Given the description of an element on the screen output the (x, y) to click on. 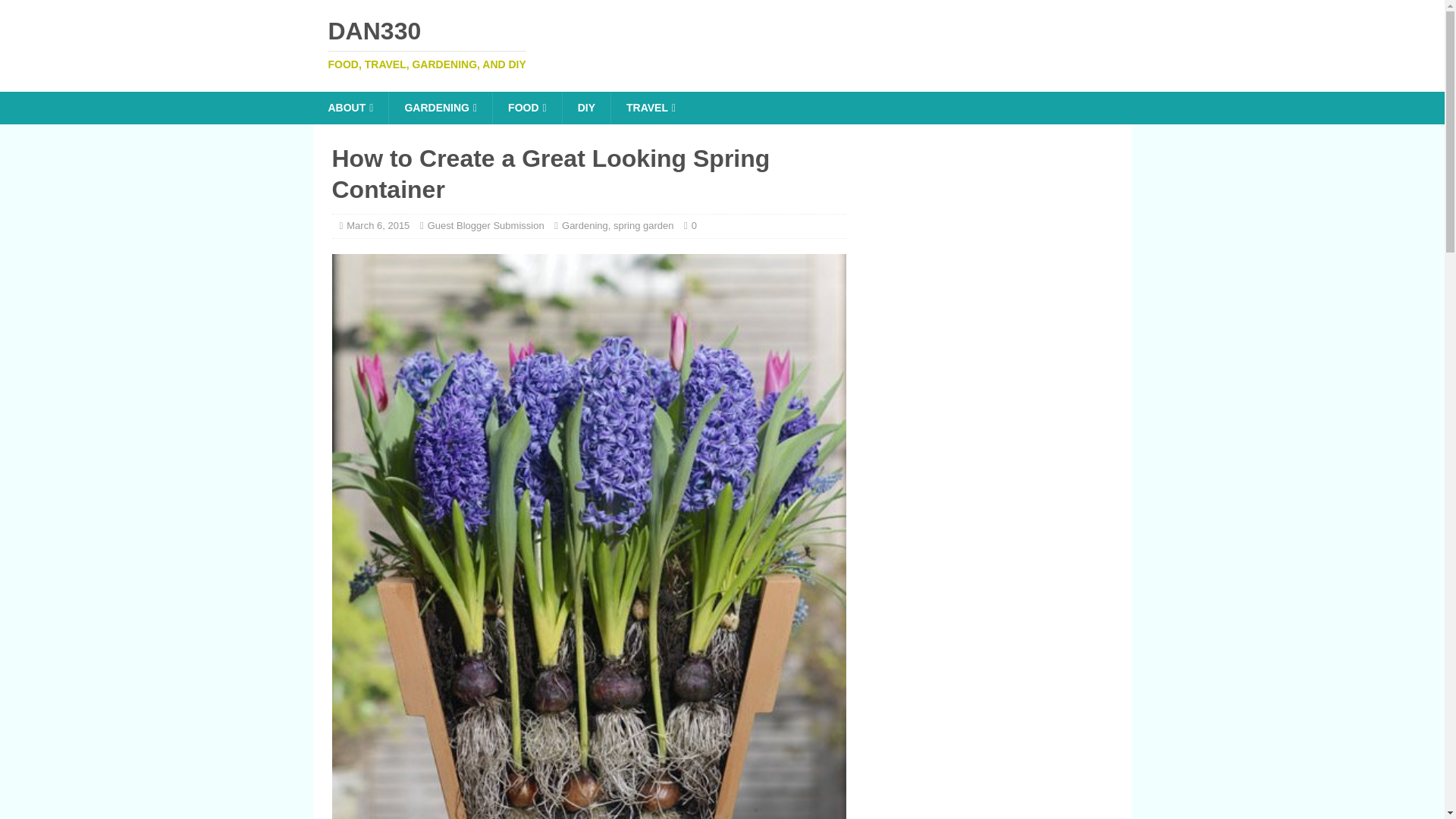
DIY (586, 107)
Dan330 (721, 44)
March 6, 2015 (377, 225)
FOOD (527, 107)
Guest Blogger Submission (486, 225)
TRAVEL (650, 107)
Gardening (721, 44)
spring garden (585, 225)
